Given the description of an element on the screen output the (x, y) to click on. 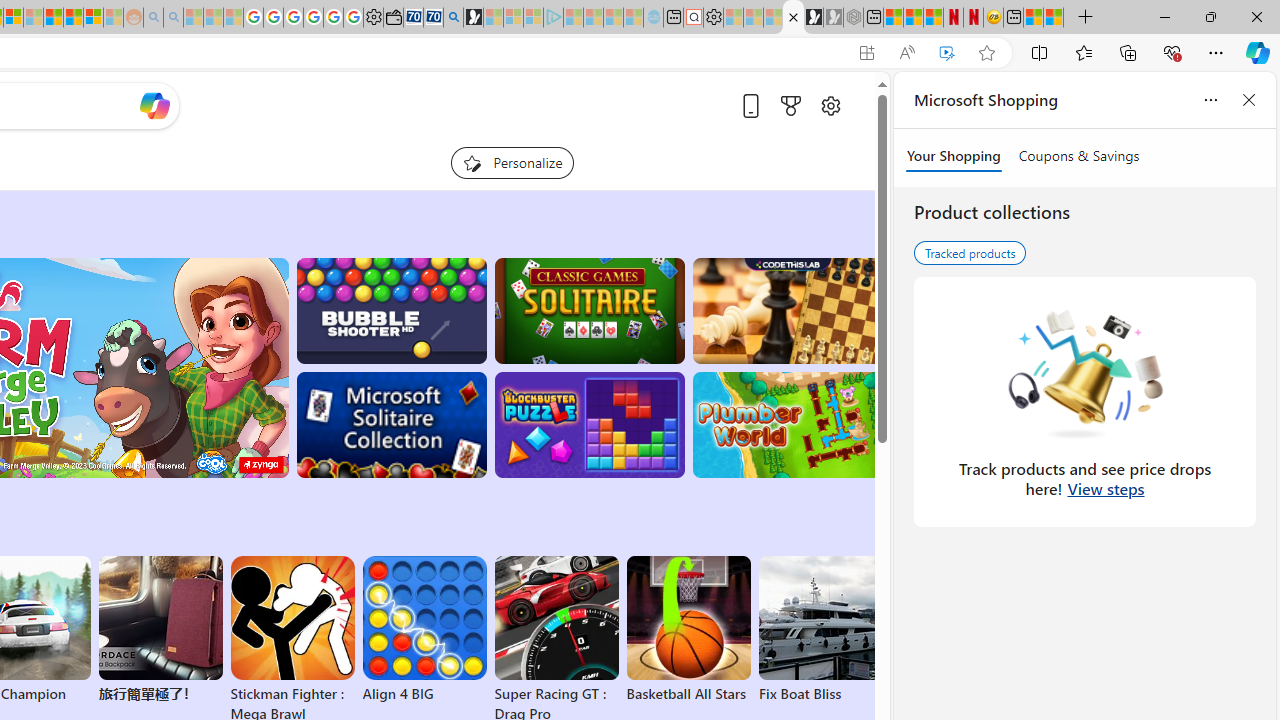
App available. Install Games from Microsoft Start (867, 53)
